Given the description of an element on the screen output the (x, y) to click on. 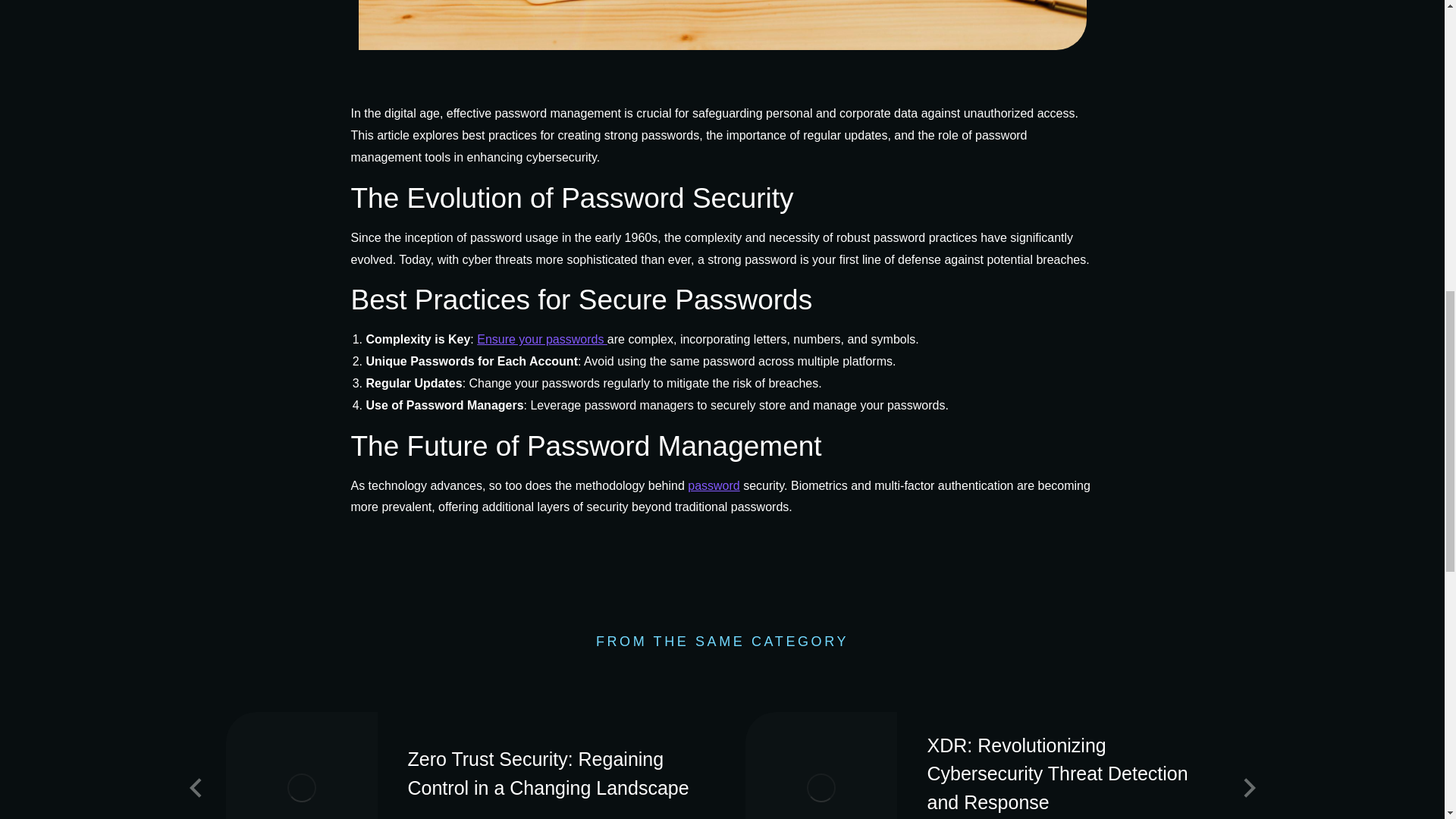
1:45 pm (523, 818)
Ensure your passwords (542, 338)
password (713, 485)
